Given the description of an element on the screen output the (x, y) to click on. 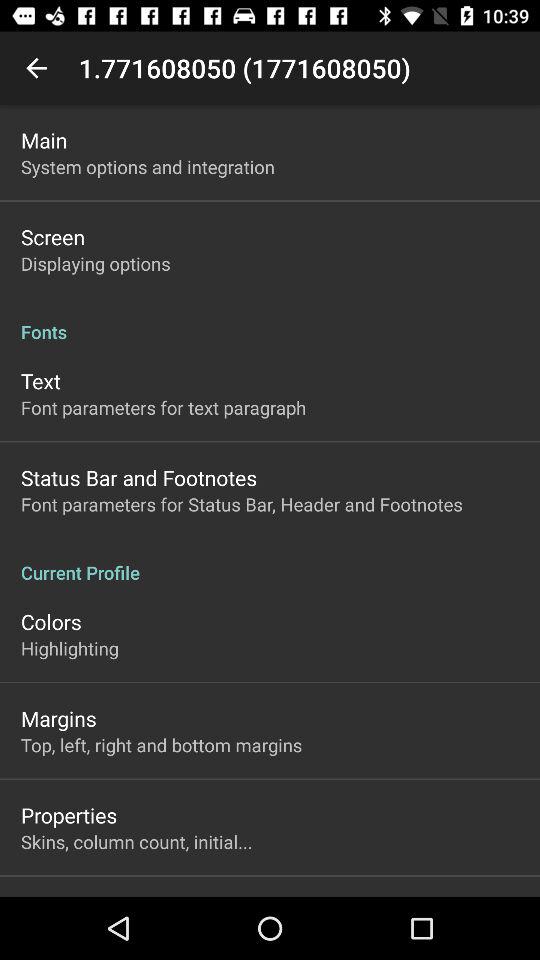
launch current profile icon (270, 562)
